Given the description of an element on the screen output the (x, y) to click on. 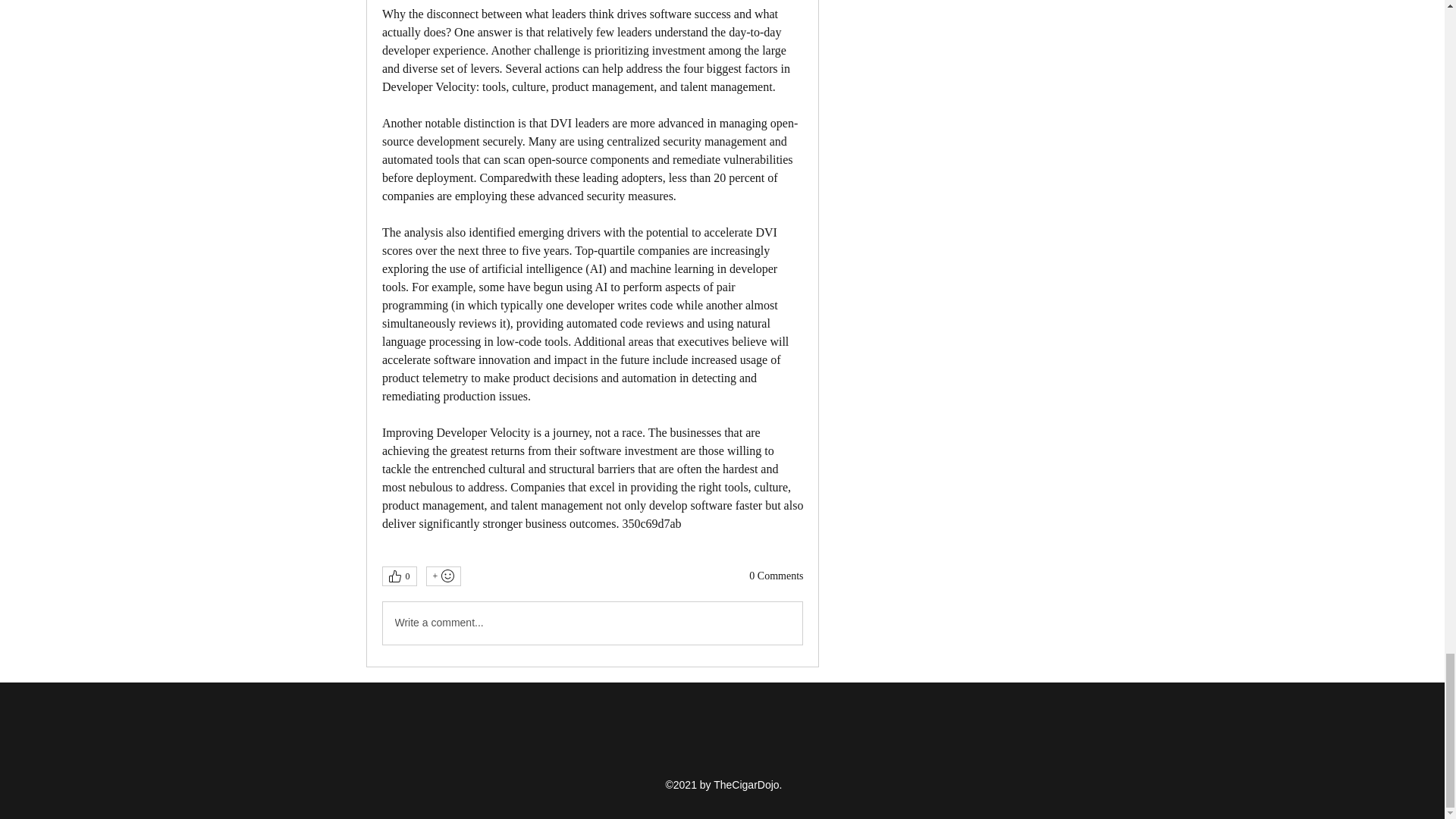
Write a comment... (591, 622)
0 Comments (776, 575)
